Given the description of an element on the screen output the (x, y) to click on. 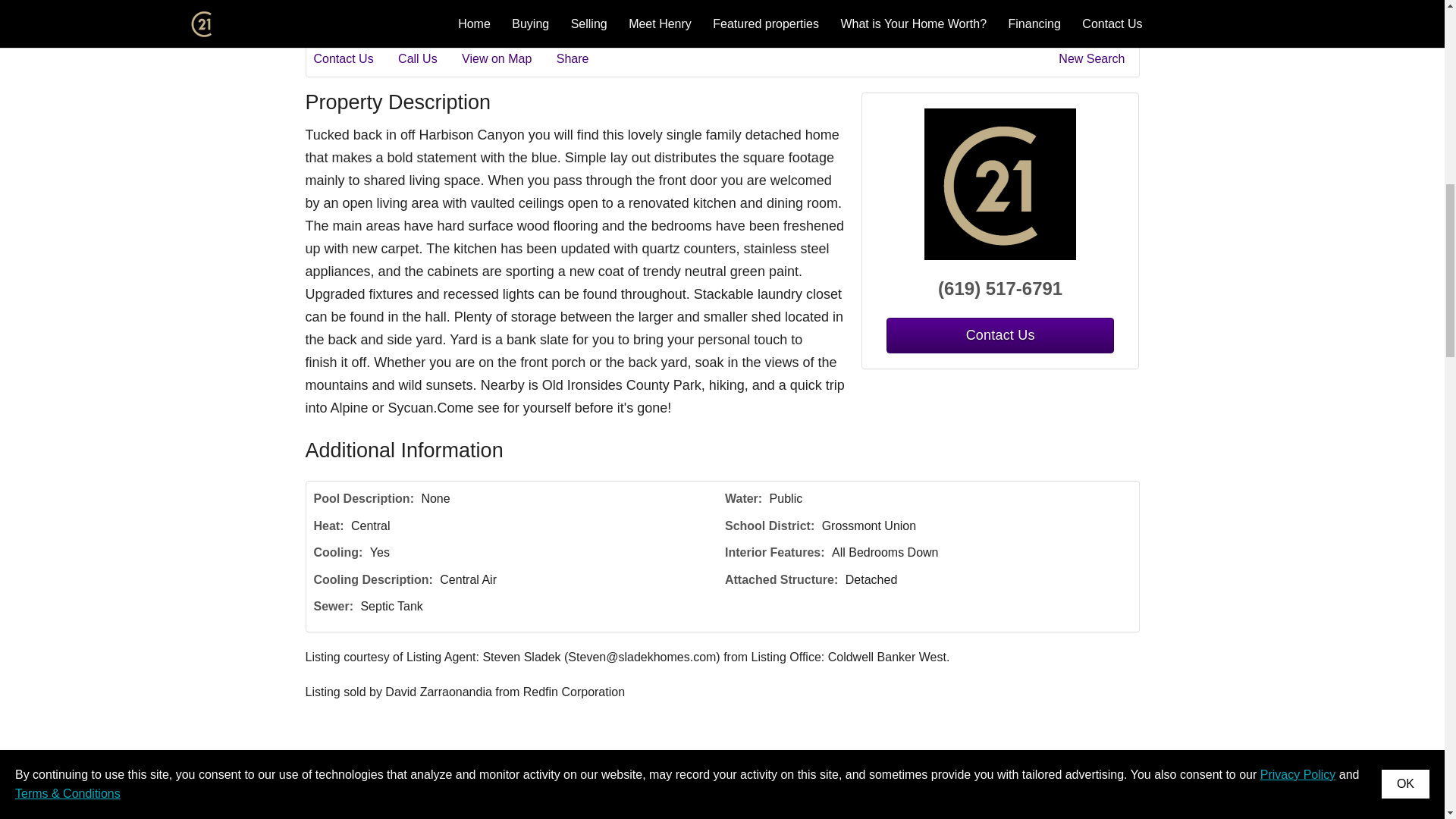
View on Map (507, 58)
Call Us (427, 58)
Share (583, 58)
New Search (1094, 58)
Contact Us (999, 334)
Contact Us (354, 58)
